Given the description of an element on the screen output the (x, y) to click on. 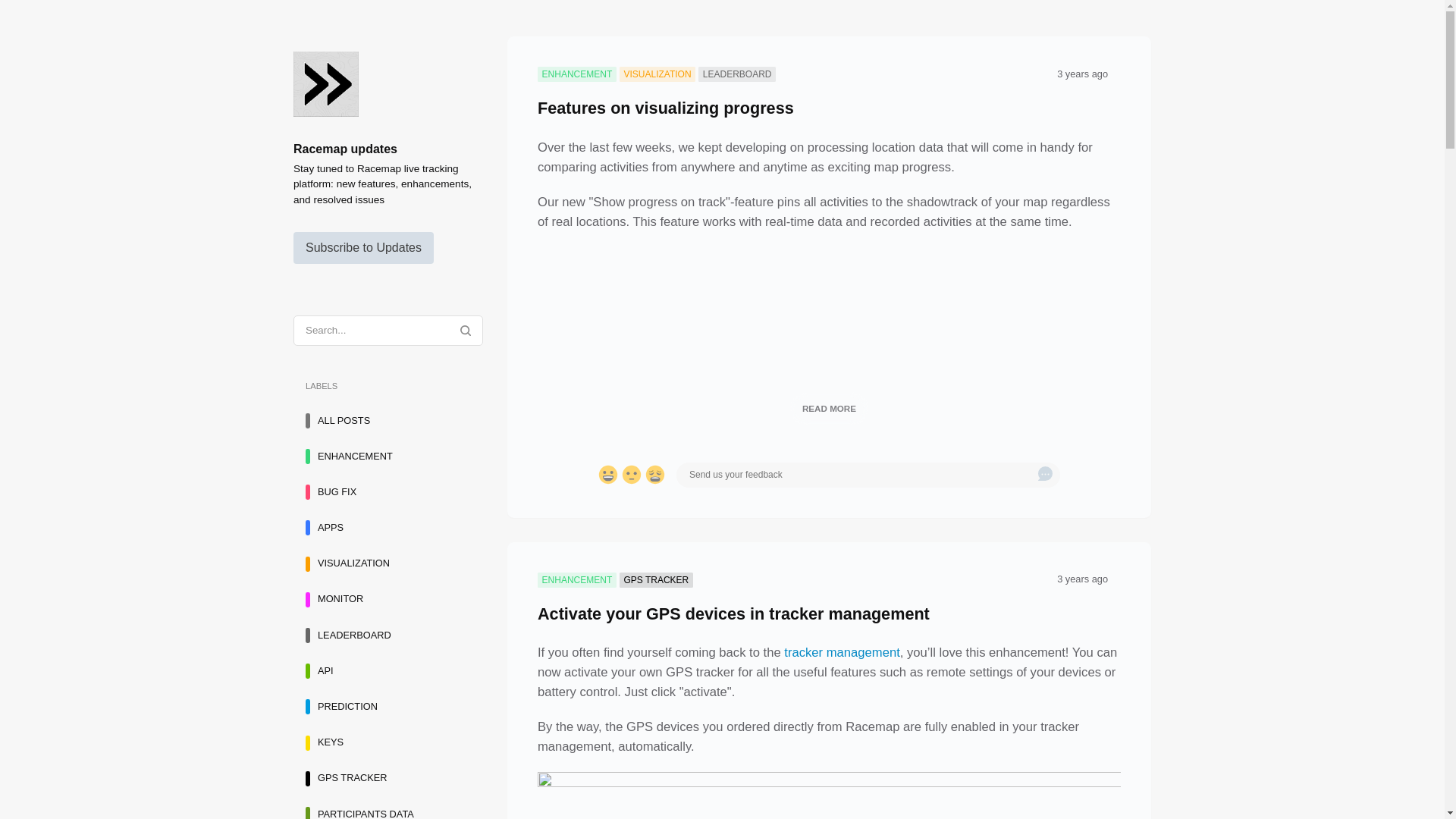
KEYS (388, 742)
Submit Button (465, 330)
ENHANCEMENT (388, 455)
VISUALIZATION (388, 563)
GPS TRACKER (388, 778)
ALL POSTS (388, 419)
API (388, 671)
MONITOR (388, 599)
Subscribe to Updates (363, 247)
APPS (388, 527)
LEADERBOARD (388, 634)
BUG FIX (388, 491)
PARTICIPANTS DATA (388, 809)
PREDICTION (388, 706)
Submit Button (1044, 474)
